Given the description of an element on the screen output the (x, y) to click on. 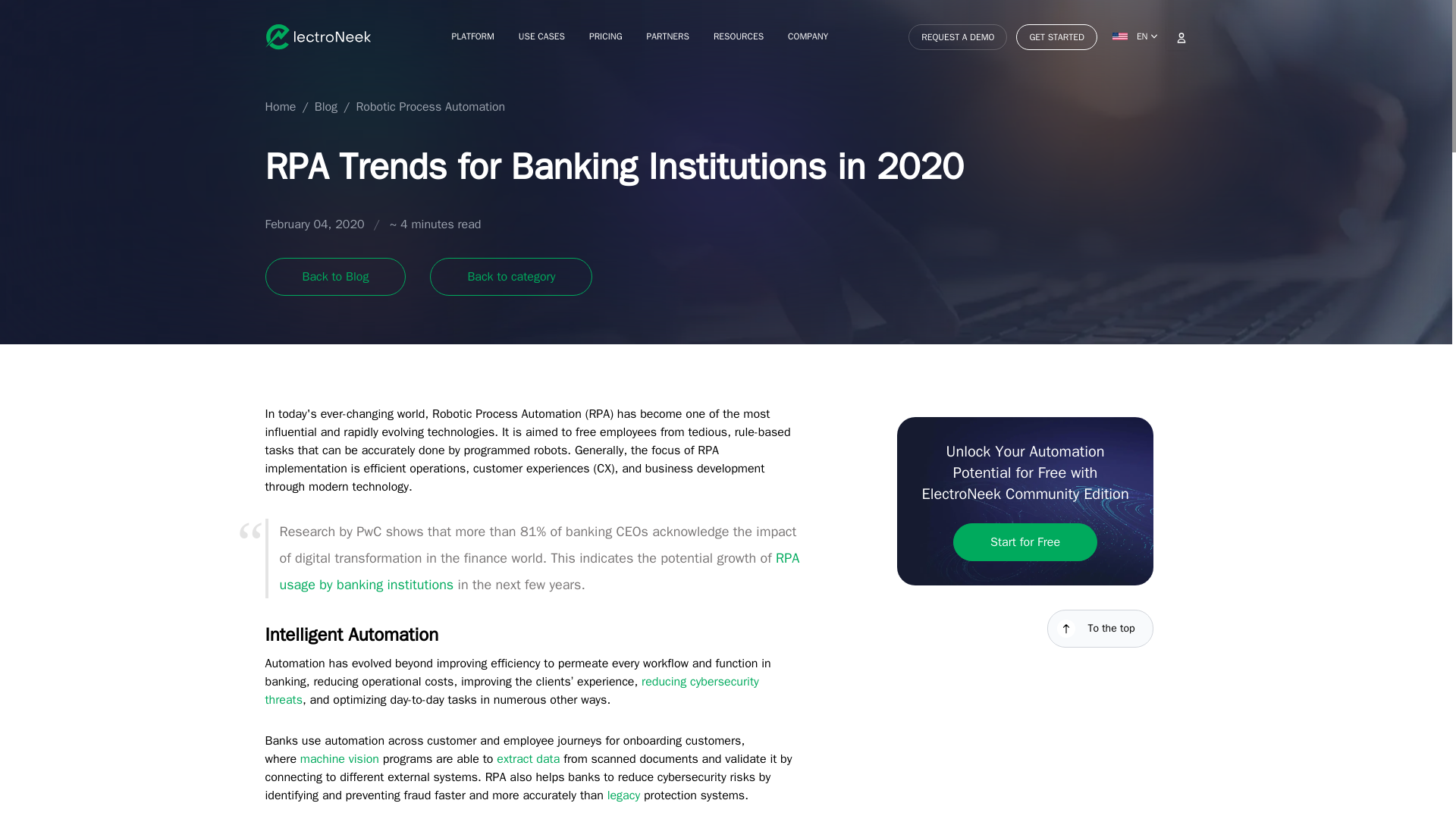
Blog (325, 107)
Robotic Process Automation (430, 107)
PRICING (606, 38)
REQUEST A DEMO (957, 36)
GET STARTED (1056, 36)
EN (1136, 36)
extract data (527, 758)
reducing cybersecurity threats (511, 690)
legacy (623, 795)
Home (280, 107)
Back to category (510, 276)
To the top (1099, 628)
Back to Blog (335, 276)
machine vision (338, 758)
Start for Free (1025, 542)
